Given the description of an element on the screen output the (x, y) to click on. 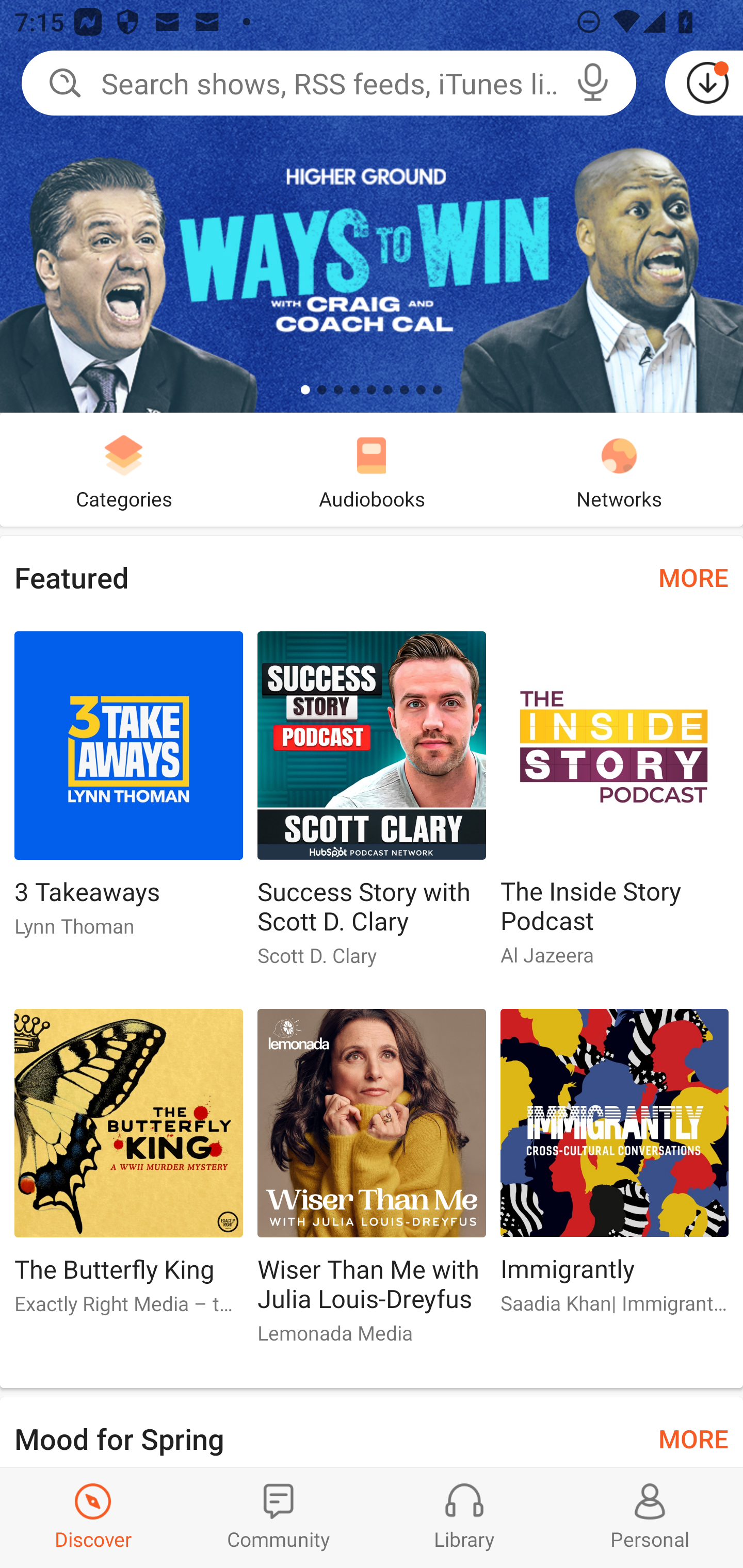
Ways To Win (371, 206)
Categories (123, 469)
Audiobooks (371, 469)
Networks (619, 469)
MORE (693, 576)
3 Takeaways 3 Takeaways Lynn Thoman (128, 792)
MORE (693, 1436)
Discover (92, 1517)
Community (278, 1517)
Library (464, 1517)
Profiles and Settings Personal (650, 1517)
